Given the description of an element on the screen output the (x, y) to click on. 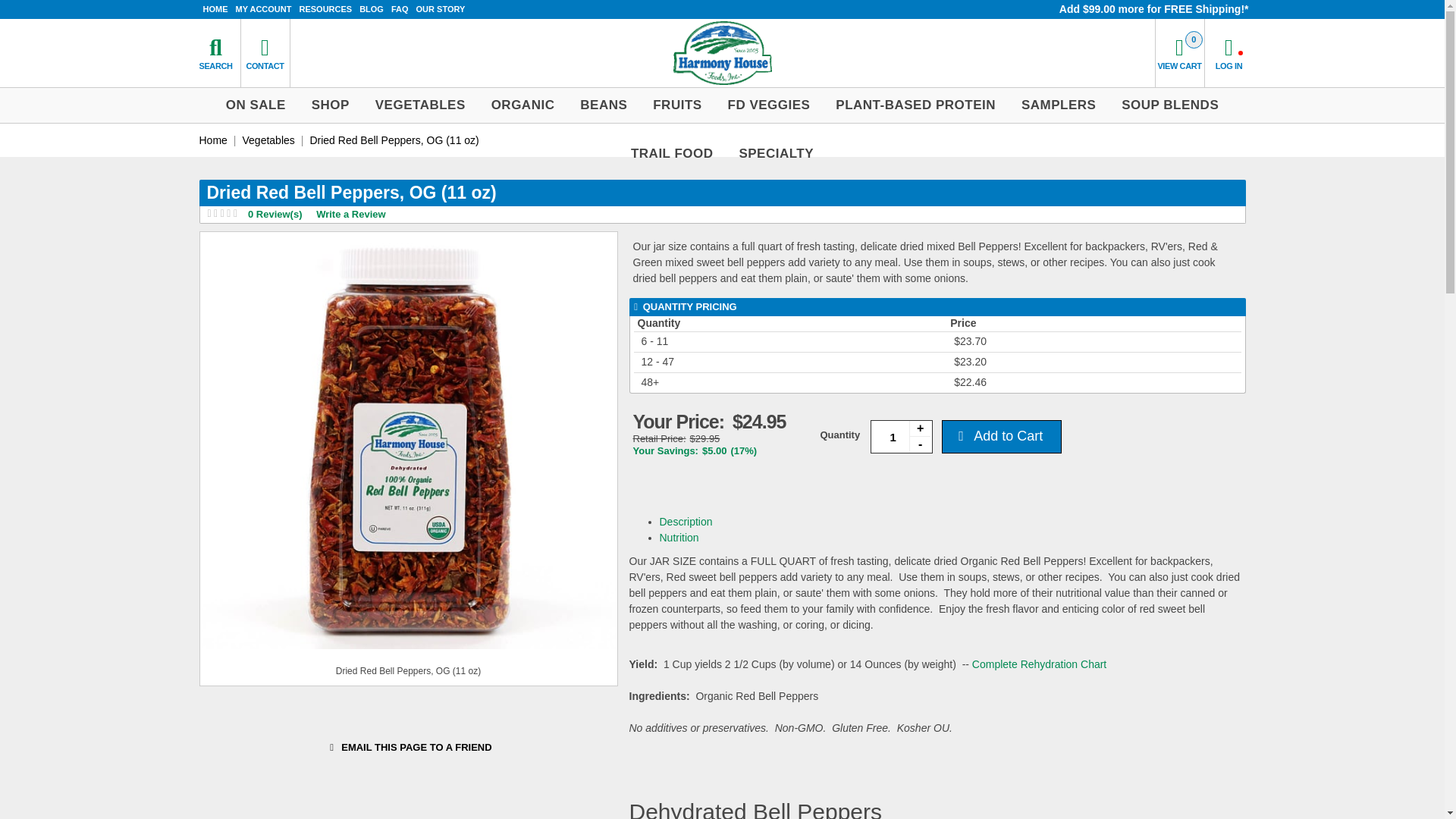
1 (901, 436)
